Given the description of an element on the screen output the (x, y) to click on. 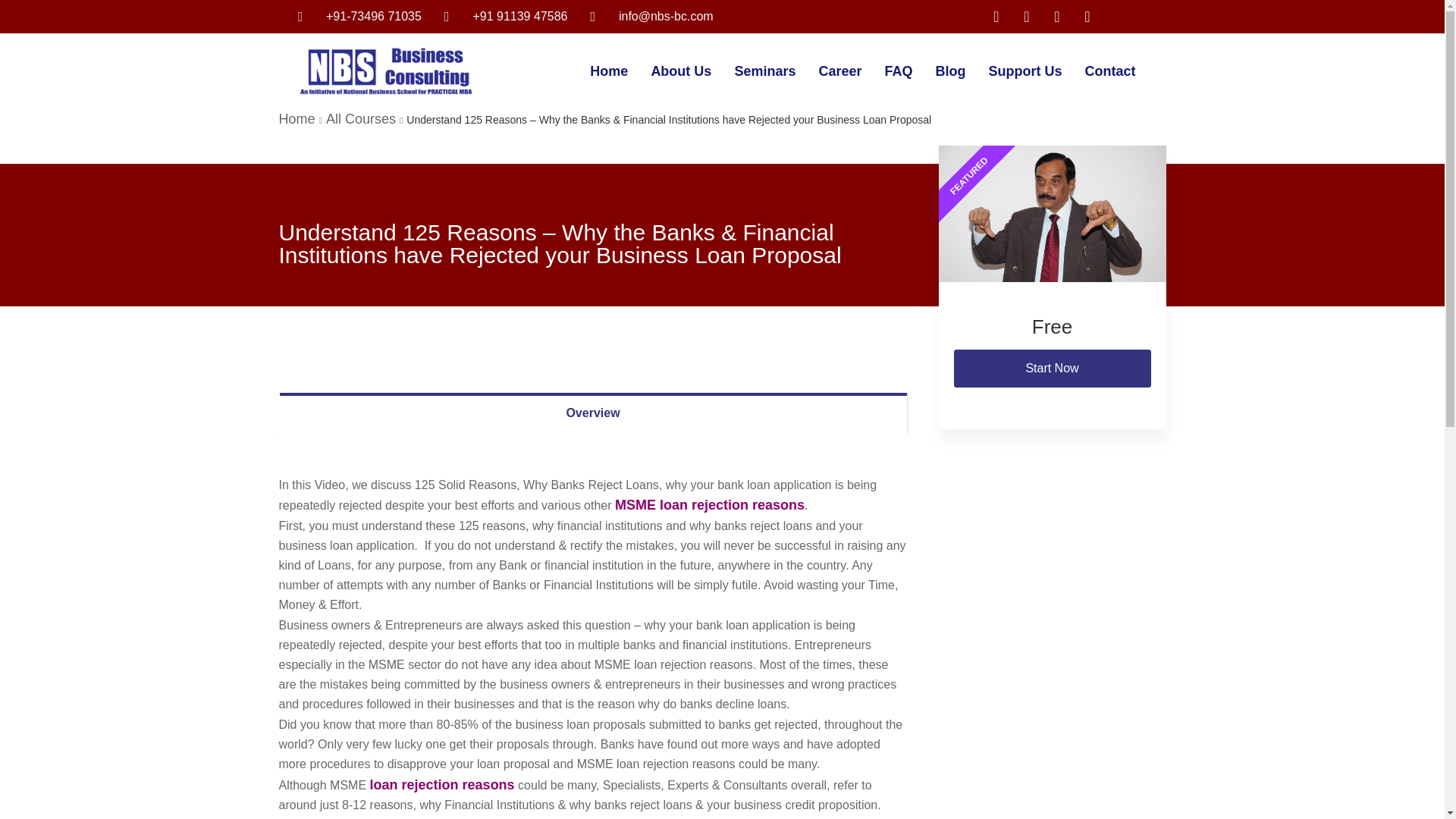
Contact (1110, 70)
loan rejection reasons (442, 784)
Home (608, 70)
Career (839, 70)
Start Now (1052, 368)
Home (297, 118)
Seminars (764, 70)
About Us (680, 70)
Support Us (1024, 70)
All Courses (361, 118)
MSME loan rejection reasons (709, 504)
